Given the description of an element on the screen output the (x, y) to click on. 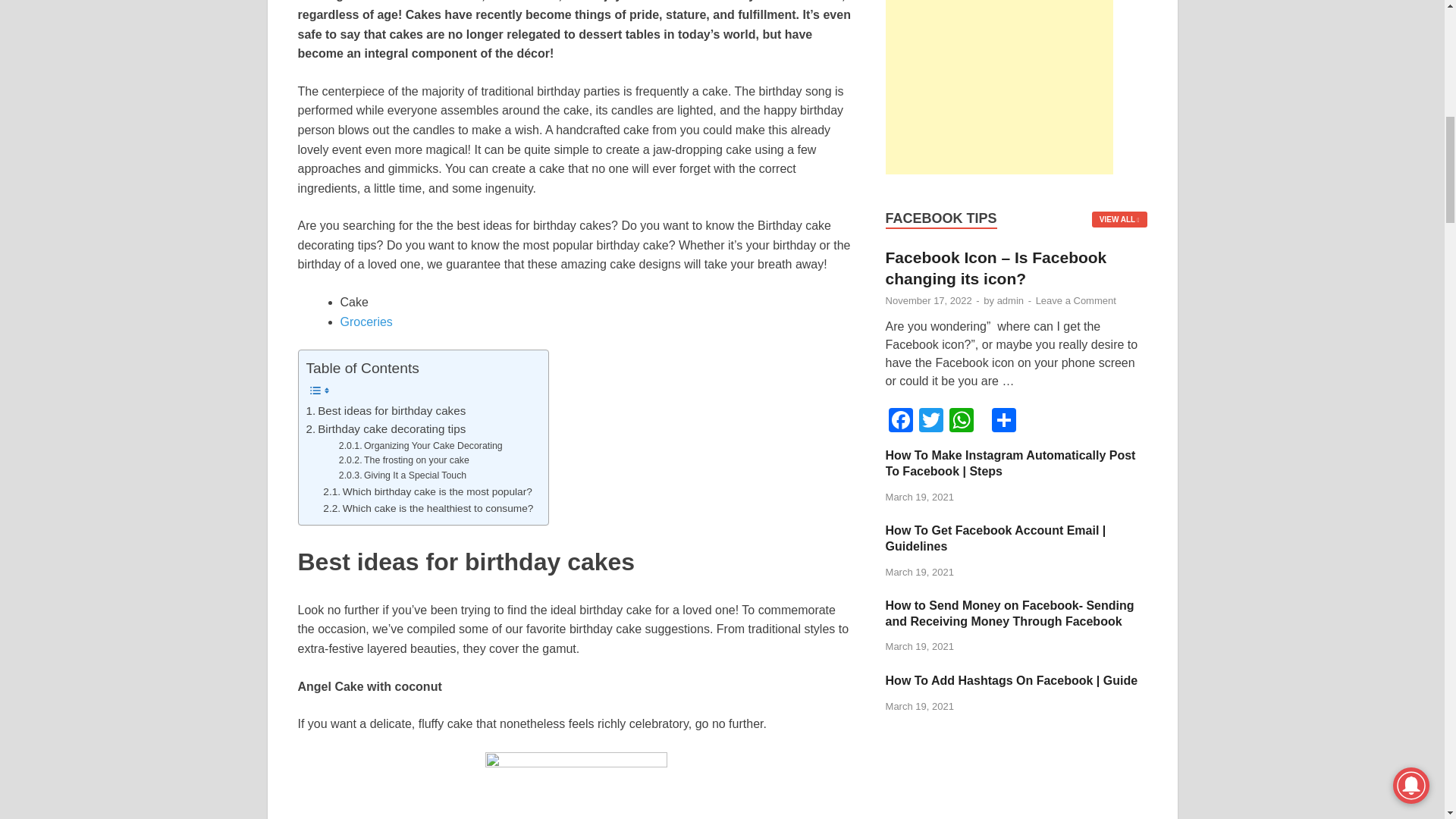
Birthday cake decorating tips (385, 429)
Which birthday cake is the most popular? (427, 492)
Giving It a Special Touch (402, 476)
The frosting on your cake (403, 460)
Best ideas for birthday cakes (385, 411)
Organizing Your Cake Decorating (420, 446)
Which cake is the healthiest to consume? (427, 508)
